Given the description of an element on the screen output the (x, y) to click on. 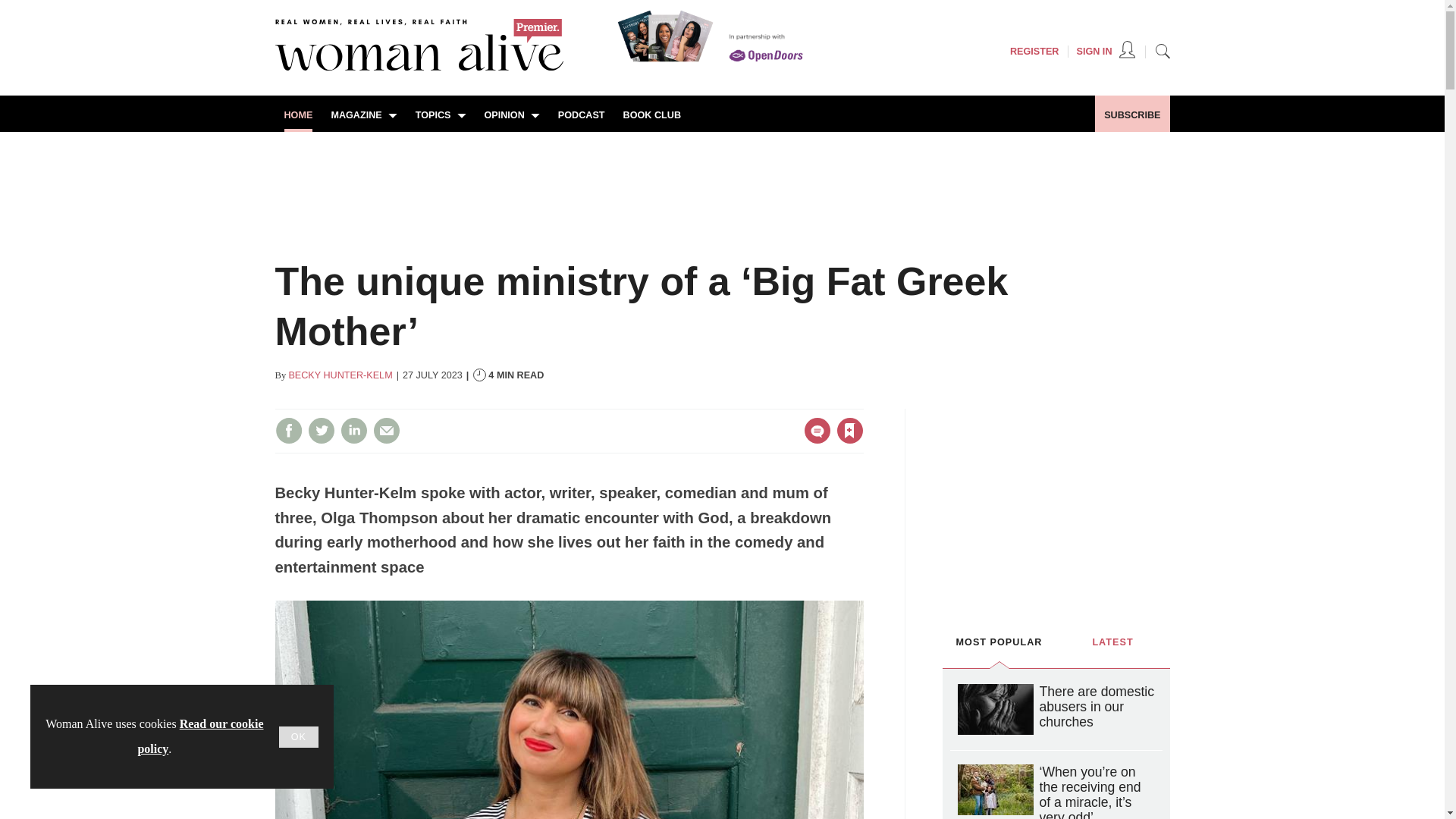
3rd party ad content (721, 183)
Share this on Linked in (352, 430)
Site name (418, 66)
Share this on Facebook (288, 430)
REGISTER (1034, 51)
Email this article (386, 430)
SEARCH (1161, 50)
OK (298, 736)
SIGN IN (1106, 51)
3rd party ad content (1055, 502)
